Given the description of an element on the screen output the (x, y) to click on. 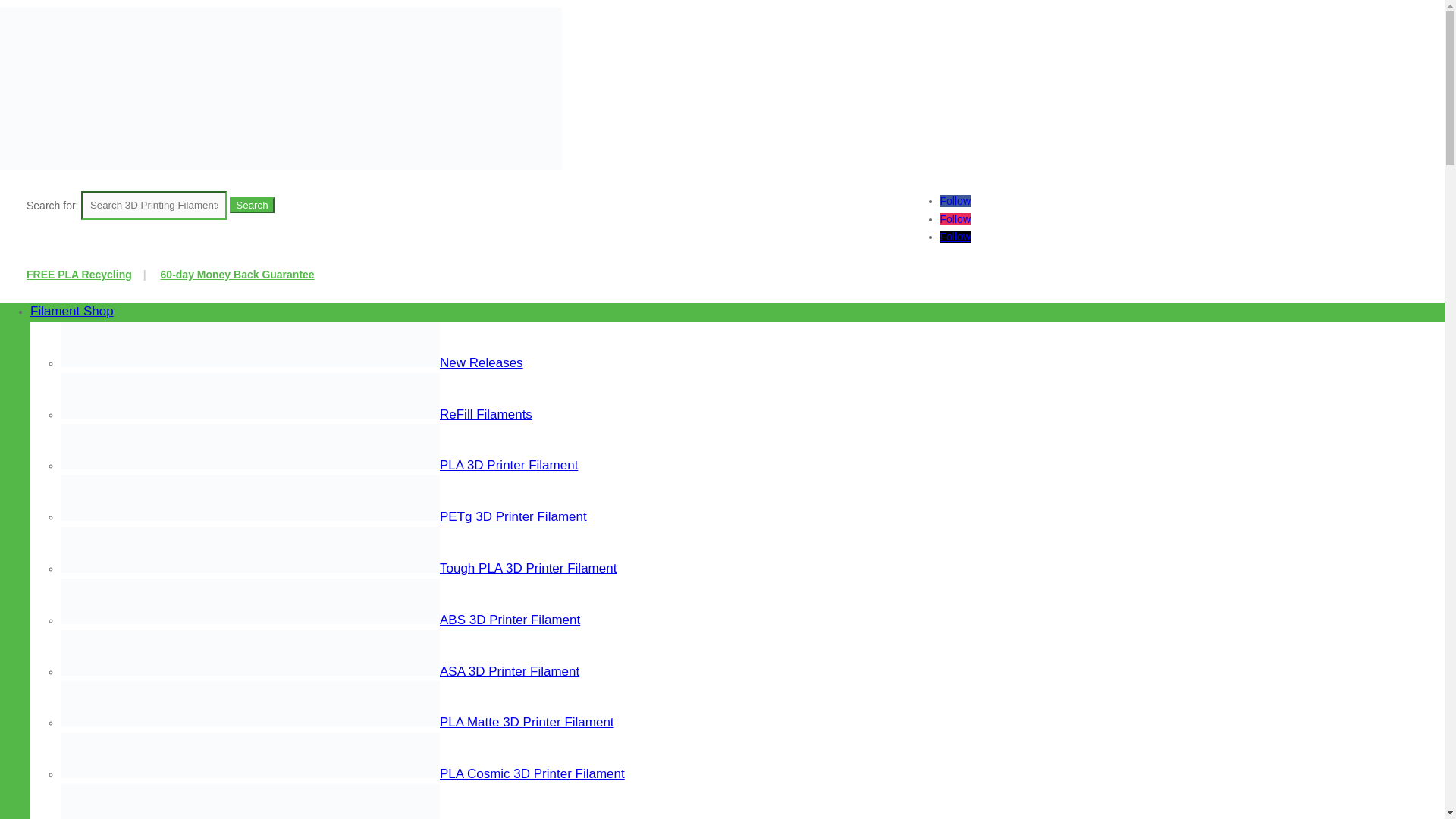
Follow on Instagram (955, 218)
Follow (955, 200)
Search (251, 204)
Follow (955, 236)
Follow on X (955, 236)
Follow (955, 218)
Follow on Facebook (955, 200)
Search (251, 204)
Search (251, 204)
